Given the description of an element on the screen output the (x, y) to click on. 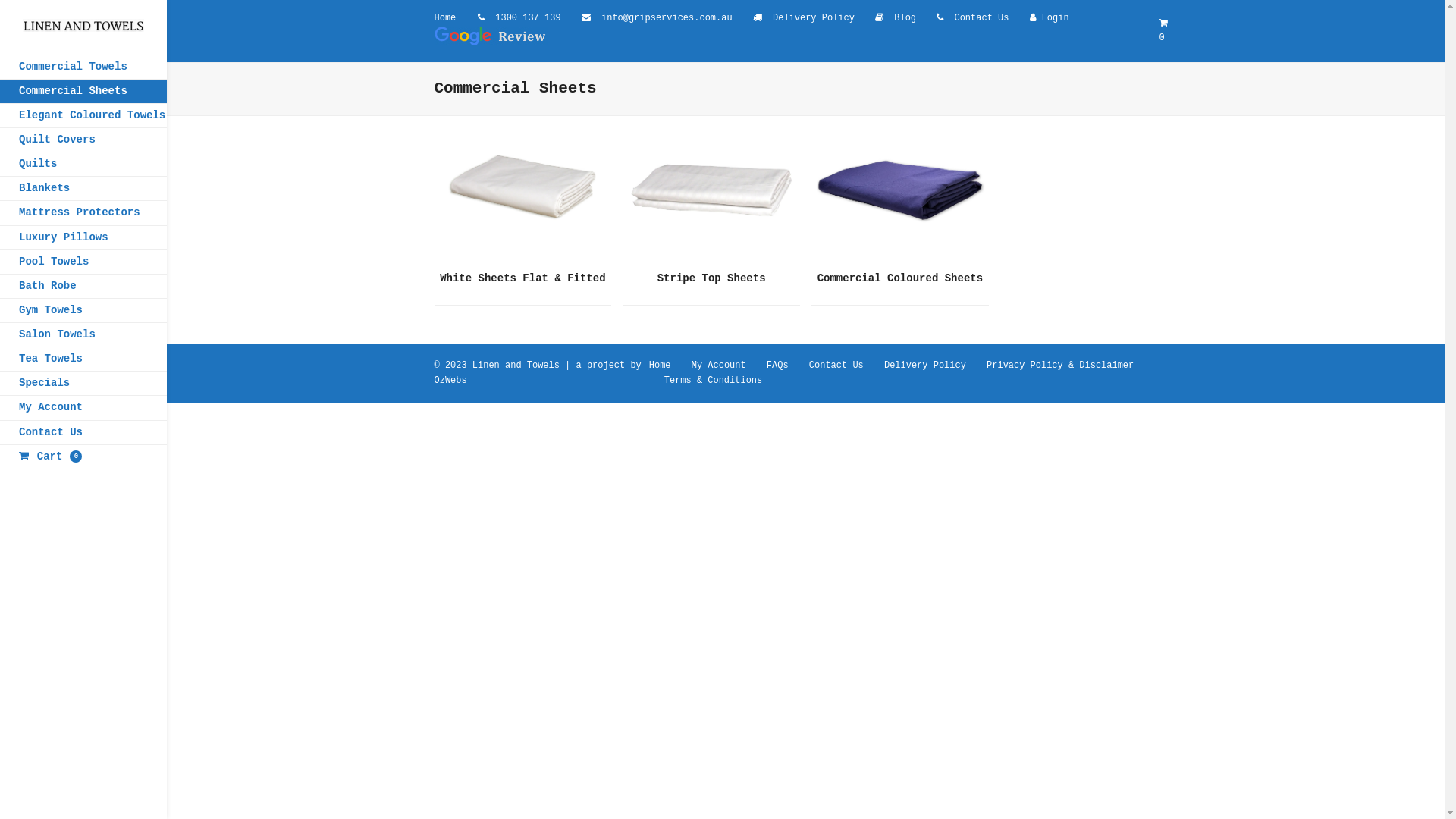
Specials Element type: text (83, 383)
Commercial Towels Element type: text (83, 66)
Blog Element type: text (905, 17)
Elegant Coloured Towels Element type: text (83, 115)
Terms & Conditions Element type: text (713, 380)
1300 137 139 Element type: text (527, 17)
Commercial Coloured Sheets Element type: text (899, 206)
Luxury Pillows Element type: text (83, 237)
Bath Robe Element type: text (83, 286)
My Account Element type: text (83, 407)
Home Element type: text (660, 365)
OzWebs Element type: text (449, 380)
Quilts Element type: text (83, 163)
Delivery Policy Element type: text (813, 17)
Home Element type: text (444, 17)
Mattress Protectors Element type: text (83, 212)
Login Element type: text (1055, 17)
Blankets Element type: text (83, 188)
Pool Towels Element type: text (83, 261)
Privacy Policy & Disclaimer Element type: text (1059, 365)
Gym Towels Element type: text (83, 310)
Contact Us Element type: text (836, 365)
0 Element type: text (1168, 31)
Salon Towels Element type: text (83, 334)
Stripe Top Sheets Element type: text (711, 206)
Contact Us Element type: text (980, 17)
Tea Towels Element type: text (83, 358)
Delivery Policy Element type: text (925, 365)
Cart
0 Element type: text (83, 456)
Quilt Covers Element type: text (83, 139)
FAQs Element type: text (777, 365)
White Sheets Flat & Fitted Element type: text (522, 206)
Linen and Towels Element type: text (515, 365)
info@gripservices.com.au Element type: text (666, 17)
Contact Us Element type: text (83, 432)
My Account Element type: text (718, 365)
Commercial Sheets Element type: text (83, 91)
